Given the description of an element on the screen output the (x, y) to click on. 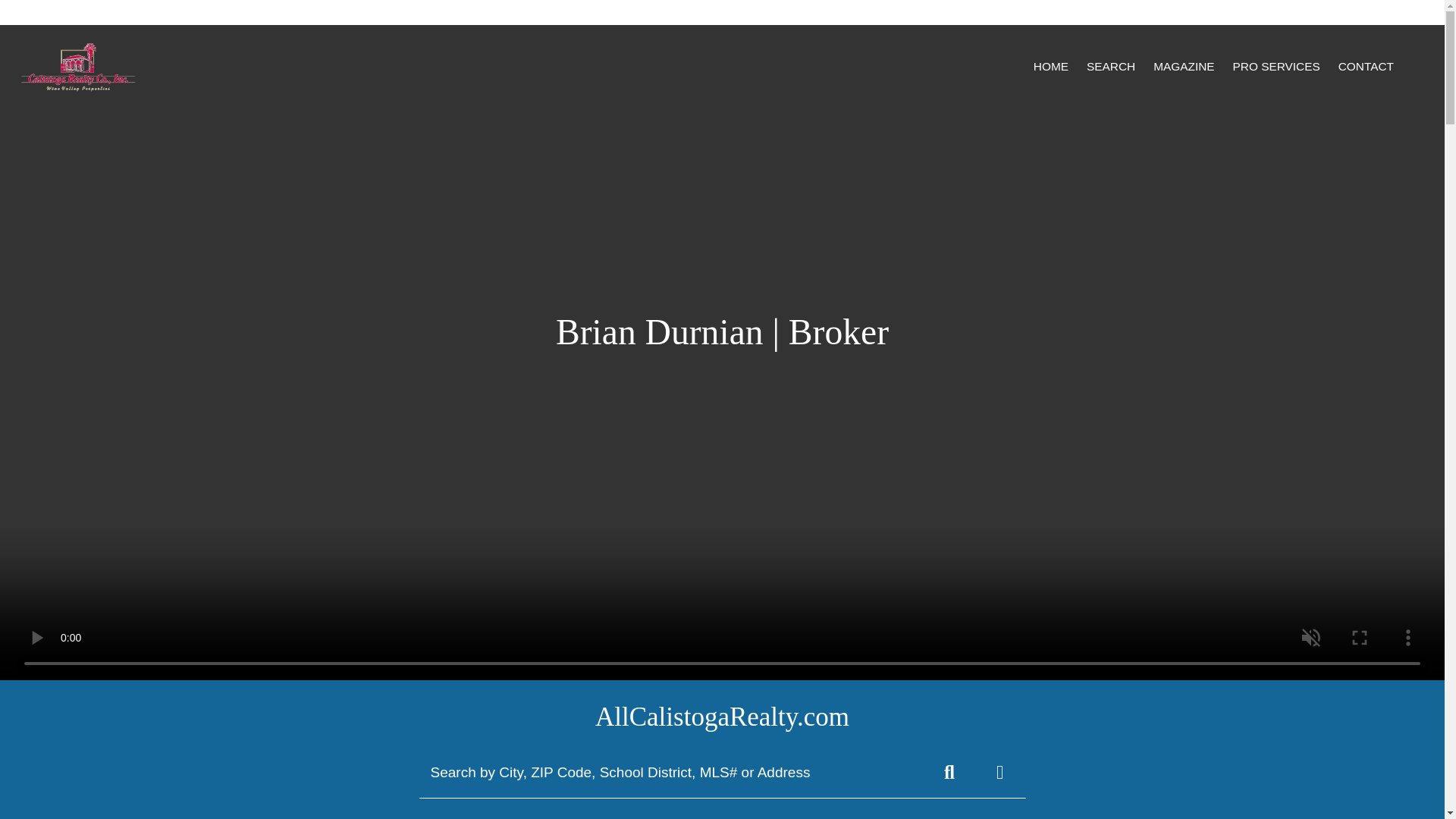
PRO SERVICES (1276, 66)
Login or Register (1374, 11)
HOME (1051, 66)
Find the perfect home, schedule showing times and more! (1110, 66)
CONTACT (1366, 66)
SEARCH (1110, 66)
MAGAZINE (1183, 66)
Questions or comments?  Email, call, fax or write us. (1366, 66)
